Given the description of an element on the screen output the (x, y) to click on. 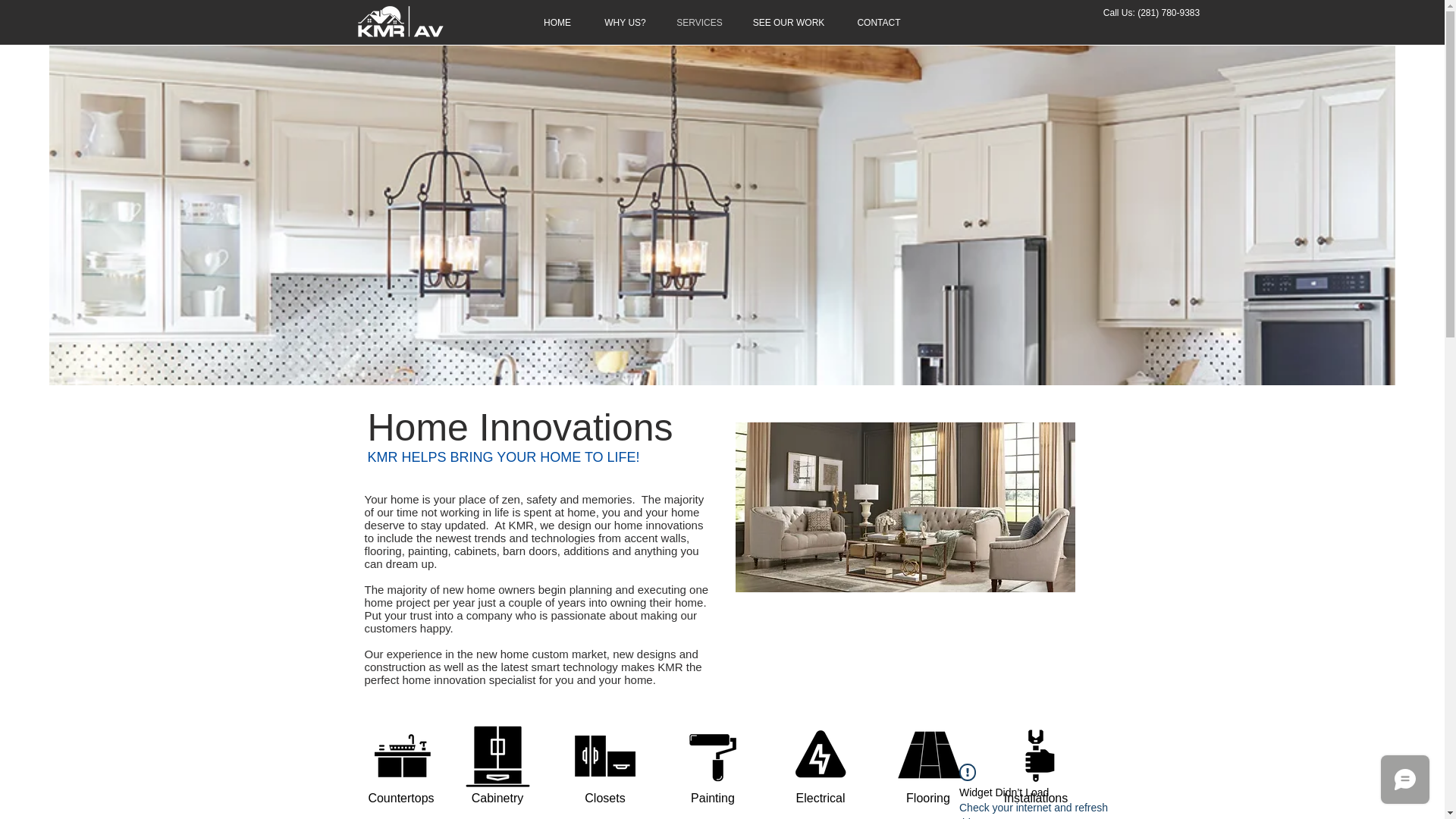
CONTACT (878, 22)
WHY US? (625, 22)
HOME (556, 22)
SERVICES (699, 22)
SEE OUR WORK (788, 22)
